Given the description of an element on the screen output the (x, y) to click on. 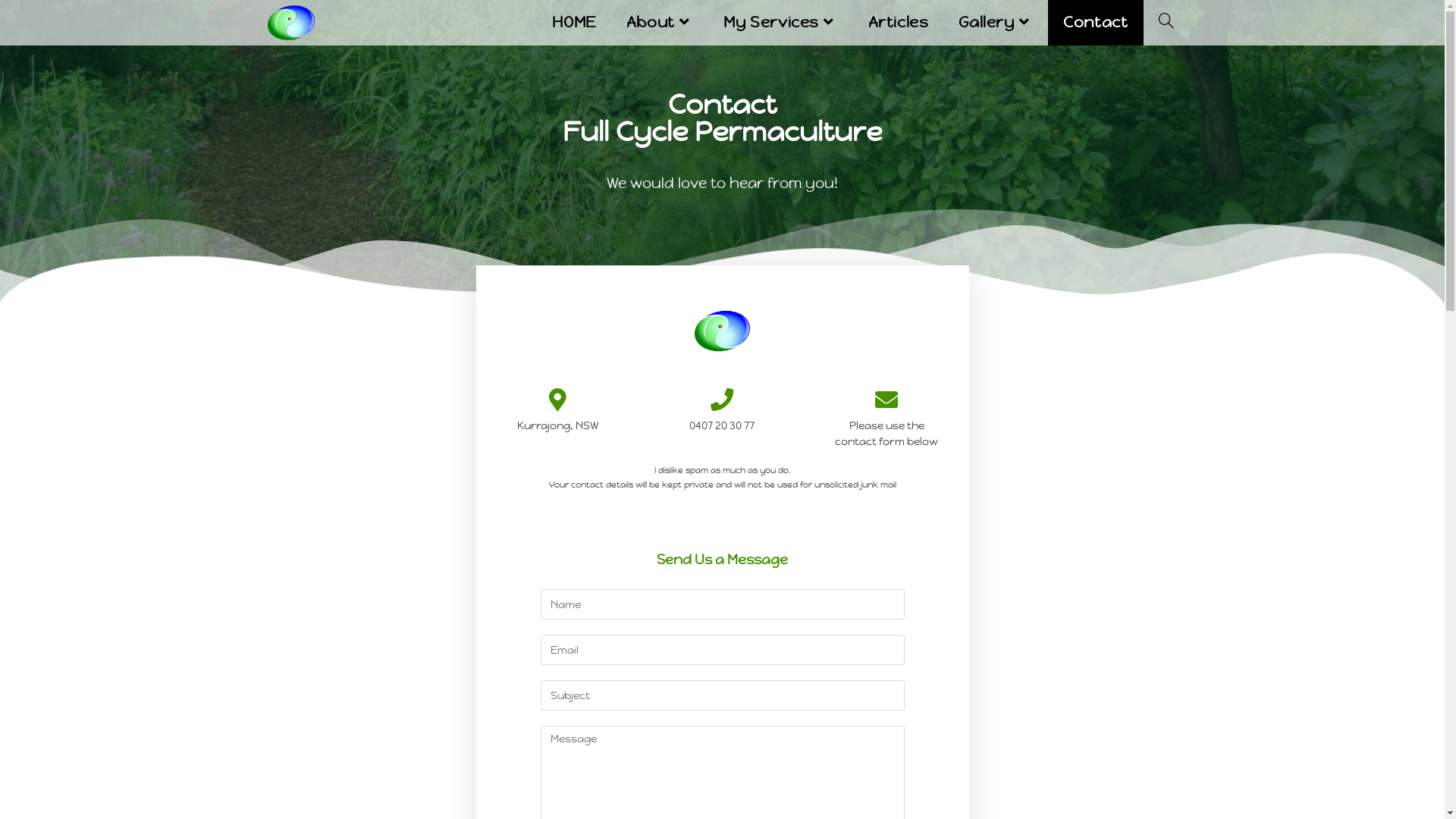
About Element type: text (660, 22)
Gallery Element type: text (995, 22)
Contact Element type: text (1095, 22)
0407 20 30 77 Element type: text (721, 425)
HOME Element type: text (573, 22)
Articles Element type: text (898, 22)
My Services Element type: text (780, 22)
